Given the description of an element on the screen output the (x, y) to click on. 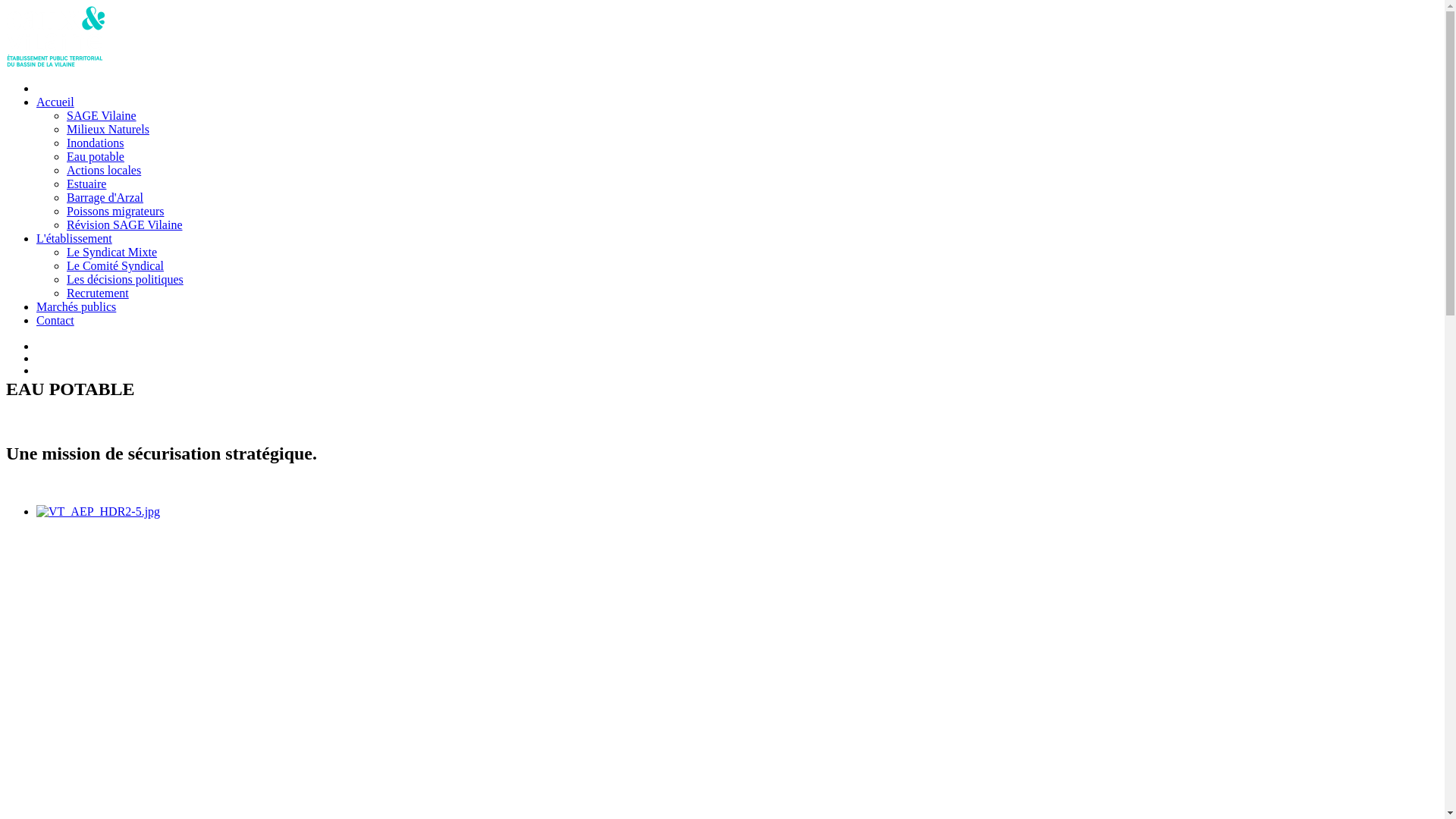
SAGE Vilaine Element type: text (101, 115)
Eau potable Element type: text (95, 156)
Milieux Naturels Element type: text (107, 128)
Estuaire Element type: text (86, 183)
Poissons migrateurs Element type: text (114, 210)
Inondations Element type: text (95, 142)
EAUX & VILAINE Element type: hover (55, 62)
Actions locales Element type: text (103, 169)
Contact Element type: text (55, 319)
Accueil Element type: text (55, 101)
VT_AEP_HDR2-5.jpg Element type: hover (98, 511)
Barrage d'Arzal Element type: text (104, 197)
Le Syndicat Mixte Element type: text (111, 251)
Recrutement Element type: text (97, 292)
